Given the description of an element on the screen output the (x, y) to click on. 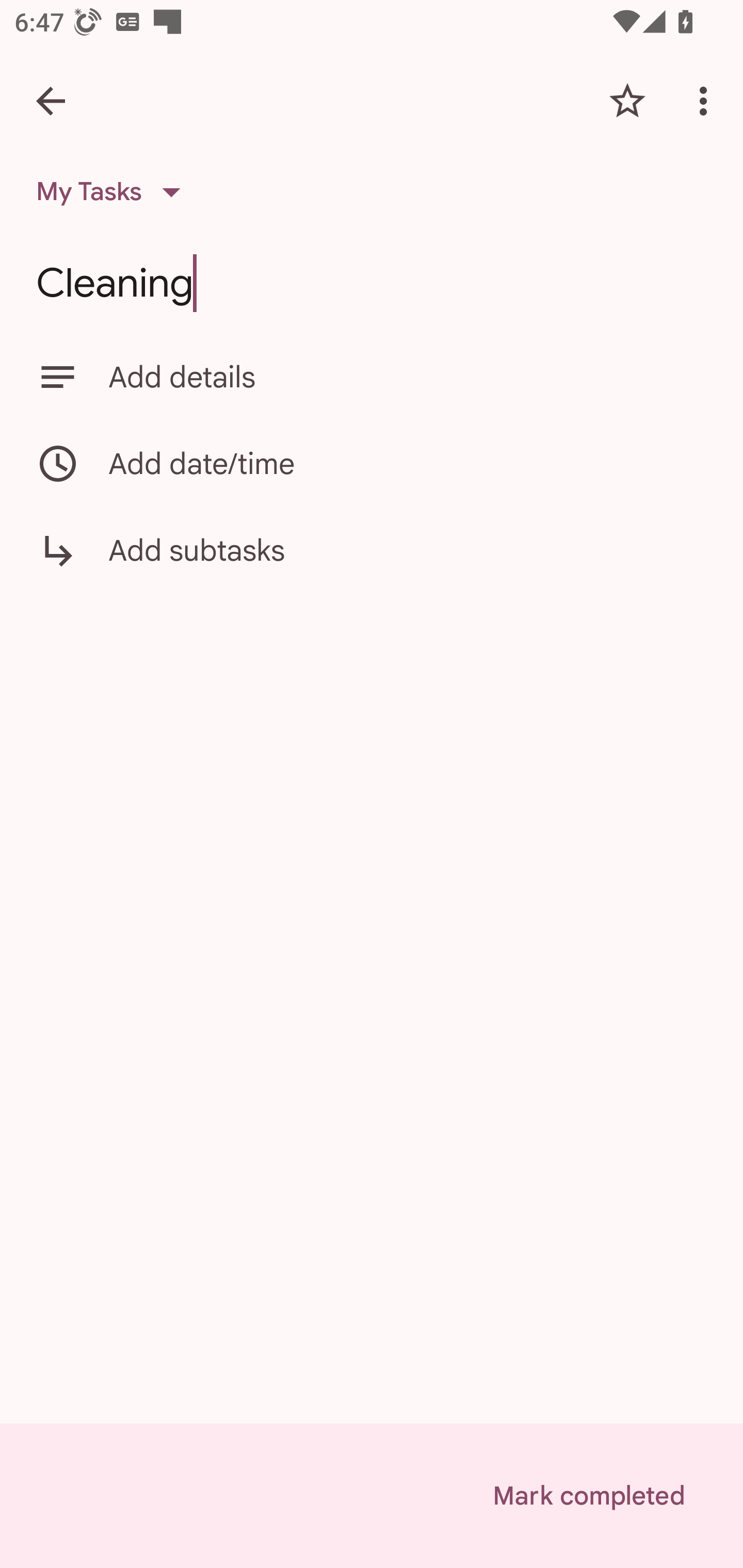
Back (50, 101)
Add star (626, 101)
More options (706, 101)
My Tasks List, My Tasks selected, 1 of 5 (114, 191)
Cleaning (371, 283)
Add details (371, 376)
Add details (407, 376)
Add date/time (371, 463)
Add subtasks (371, 564)
Mark completed (588, 1495)
